Given the description of an element on the screen output the (x, y) to click on. 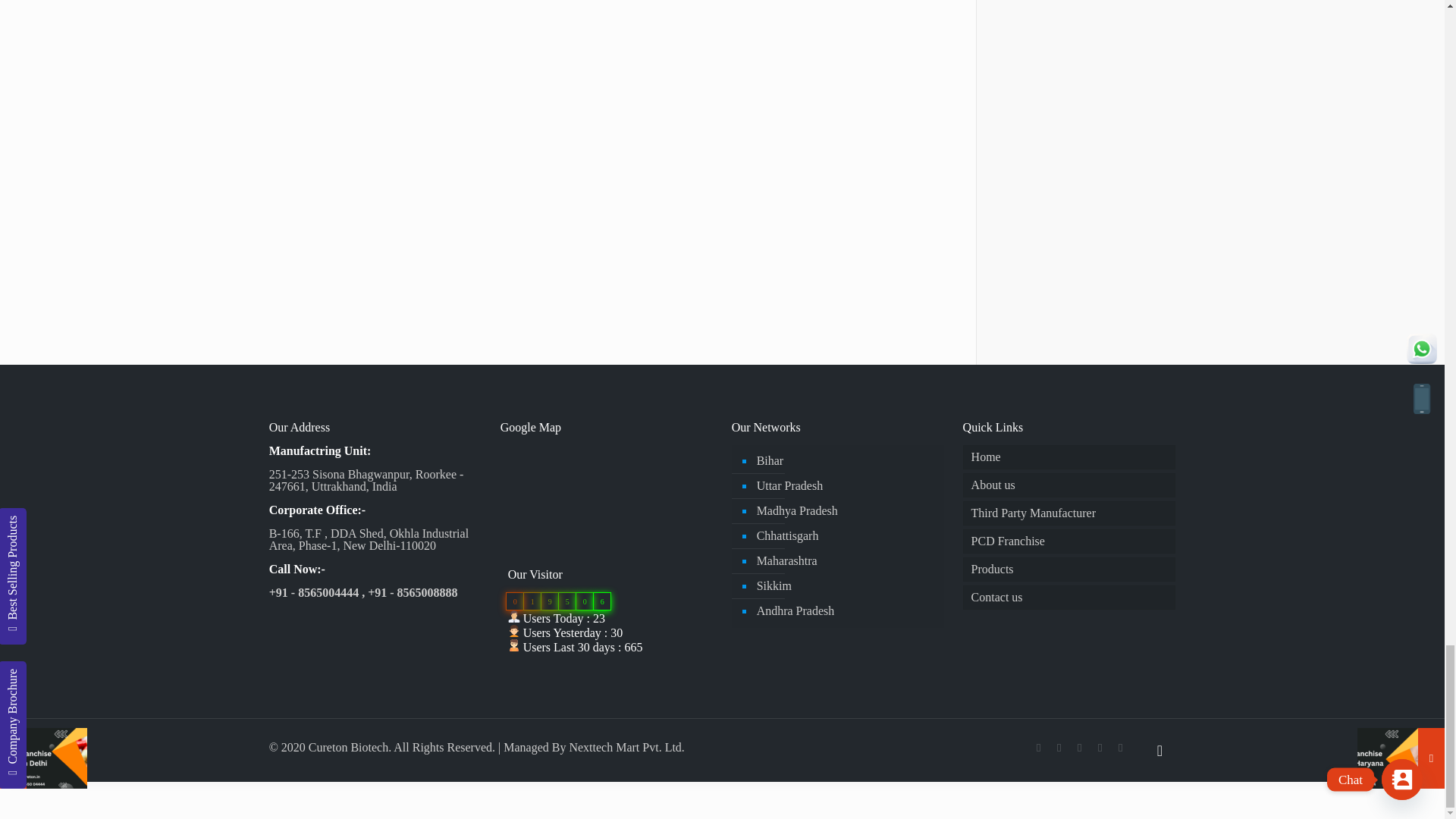
LinkedIn (1079, 747)
Facebook (1038, 747)
Twitter (1059, 747)
Pinterest (1100, 747)
